Given the description of an element on the screen output the (x, y) to click on. 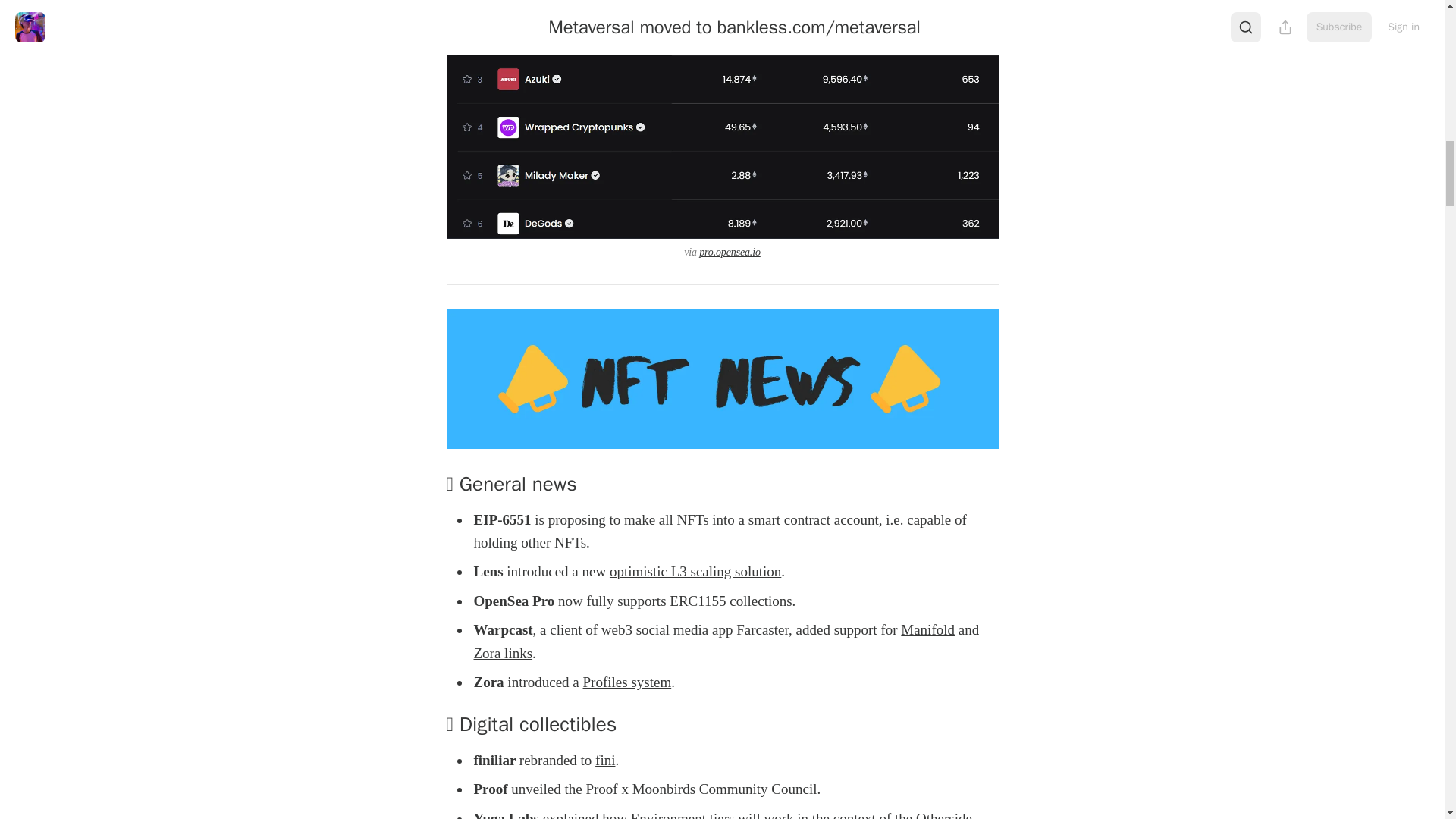
pro.opensea.io (729, 251)
